Given the description of an element on the screen output the (x, y) to click on. 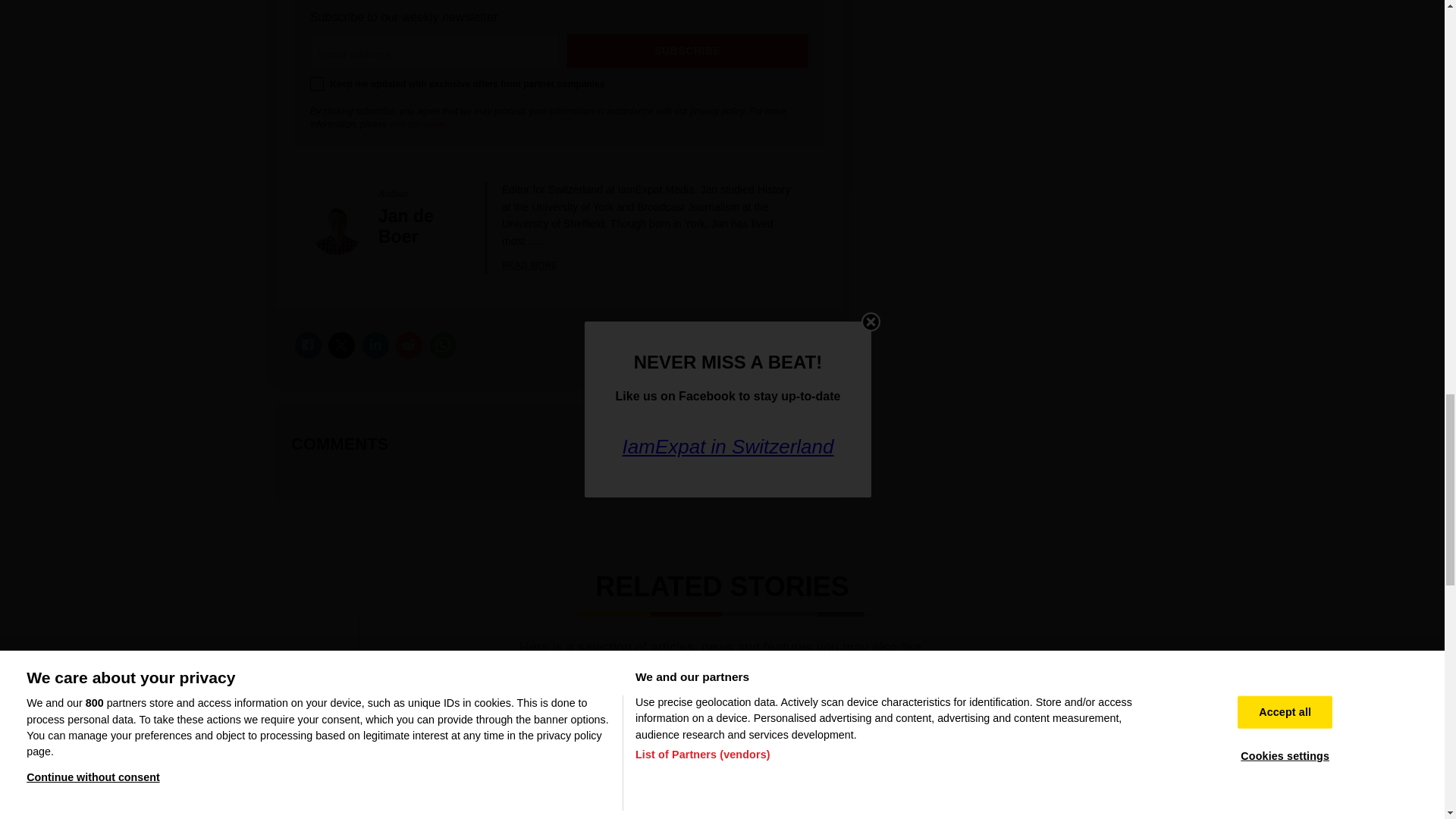
Leave a comment (757, 444)
Subscribe (688, 50)
